Given the description of an element on the screen output the (x, y) to click on. 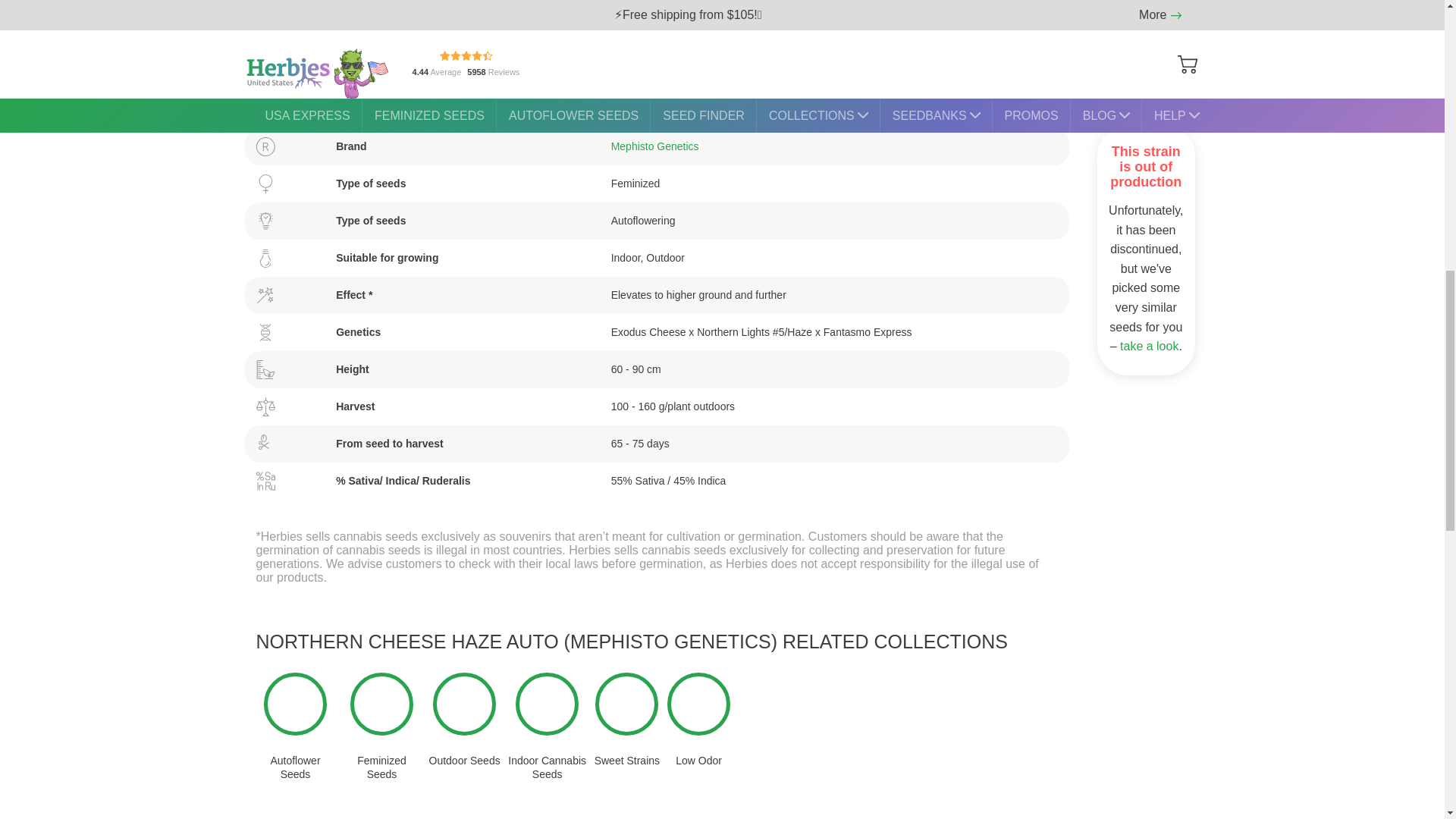
Suitable for growing (656, 257)
Type of seeds (656, 220)
Brand (656, 146)
Height (656, 369)
Effect (656, 294)
Type of seeds (656, 183)
Harvest (656, 406)
Time from seed to harvest (656, 443)
Genetics (656, 332)
